Given the description of an element on the screen output the (x, y) to click on. 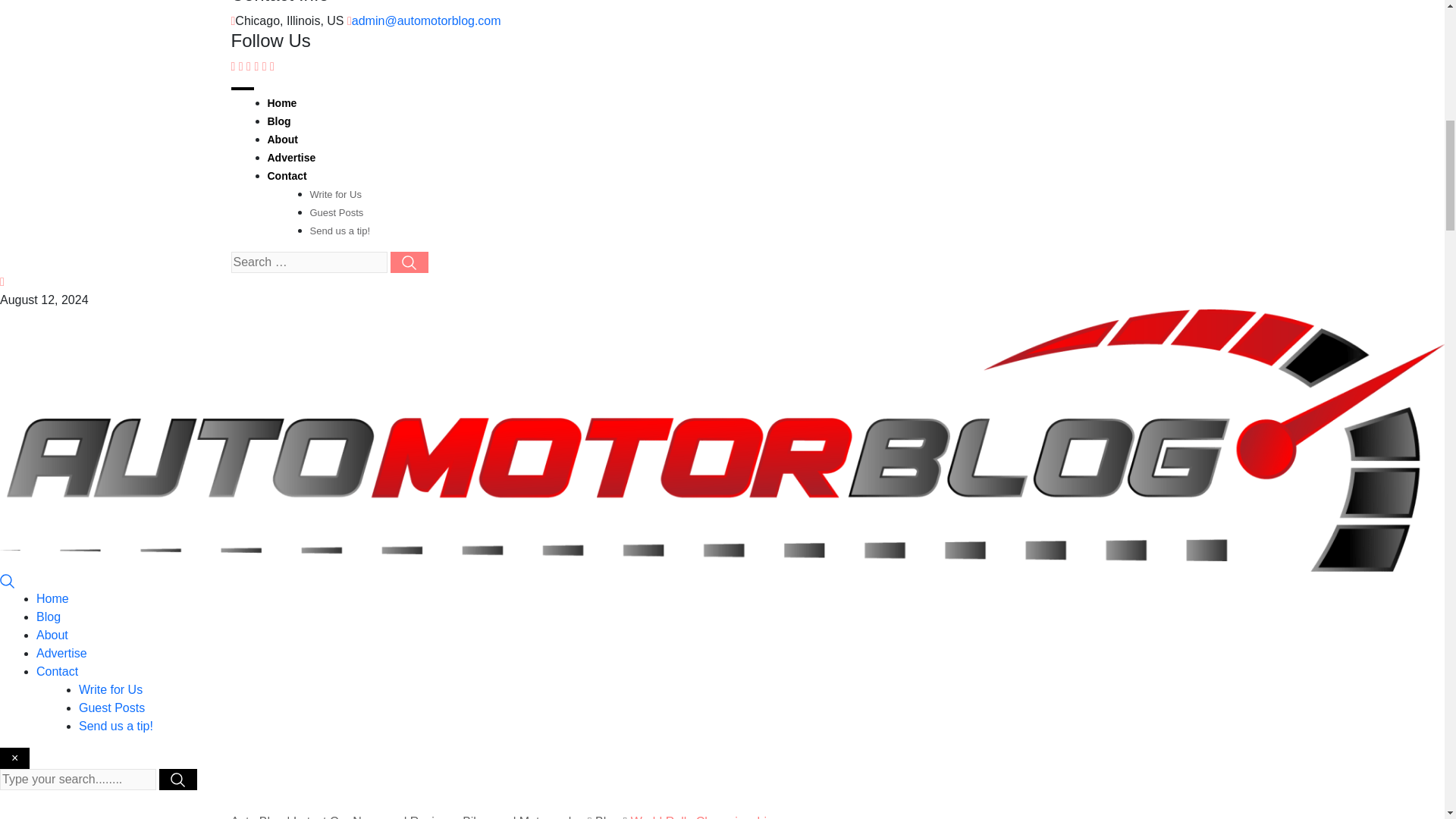
About (281, 139)
Go to Blog. (607, 816)
Guest Posts (111, 707)
Search (7, 580)
Advertise (290, 157)
Contact (57, 671)
About (52, 634)
Advertise (61, 653)
Write for Us (334, 194)
Home (281, 102)
